Given the description of an element on the screen output the (x, y) to click on. 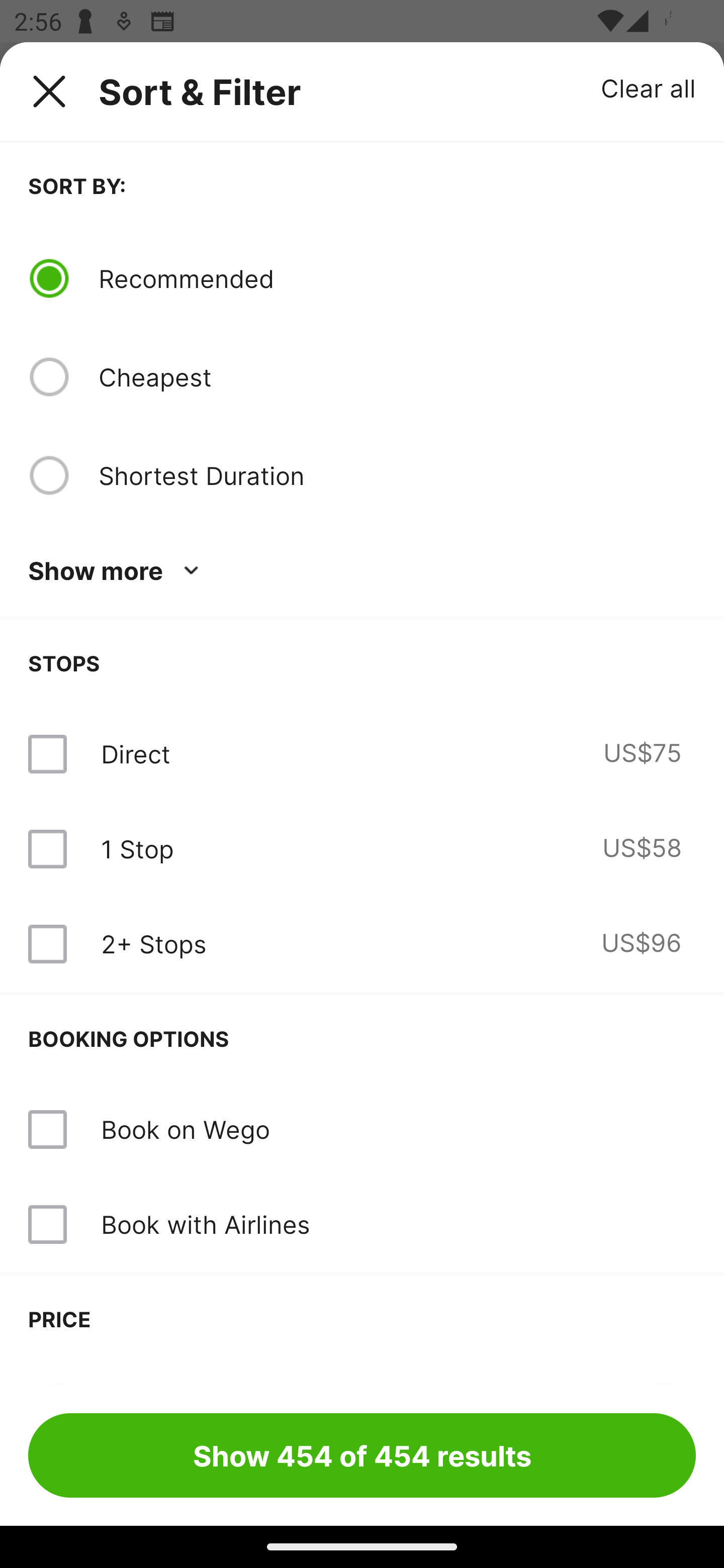
Clear all (648, 87)
Recommended  (396, 278)
Cheapest (396, 377)
Shortest Duration (396, 474)
Show more (116, 570)
Direct US$75 (362, 754)
Direct (135, 753)
1 Stop US$58 (362, 848)
1 Stop (136, 849)
2+ Stops US$96 (362, 943)
2+ Stops (153, 943)
Book on Wego (362, 1129)
Book on Wego (184, 1128)
Book with Airlines (362, 1224)
Book with Airlines (204, 1224)
Show 454 of 454 results (361, 1454)
